Given the description of an element on the screen output the (x, y) to click on. 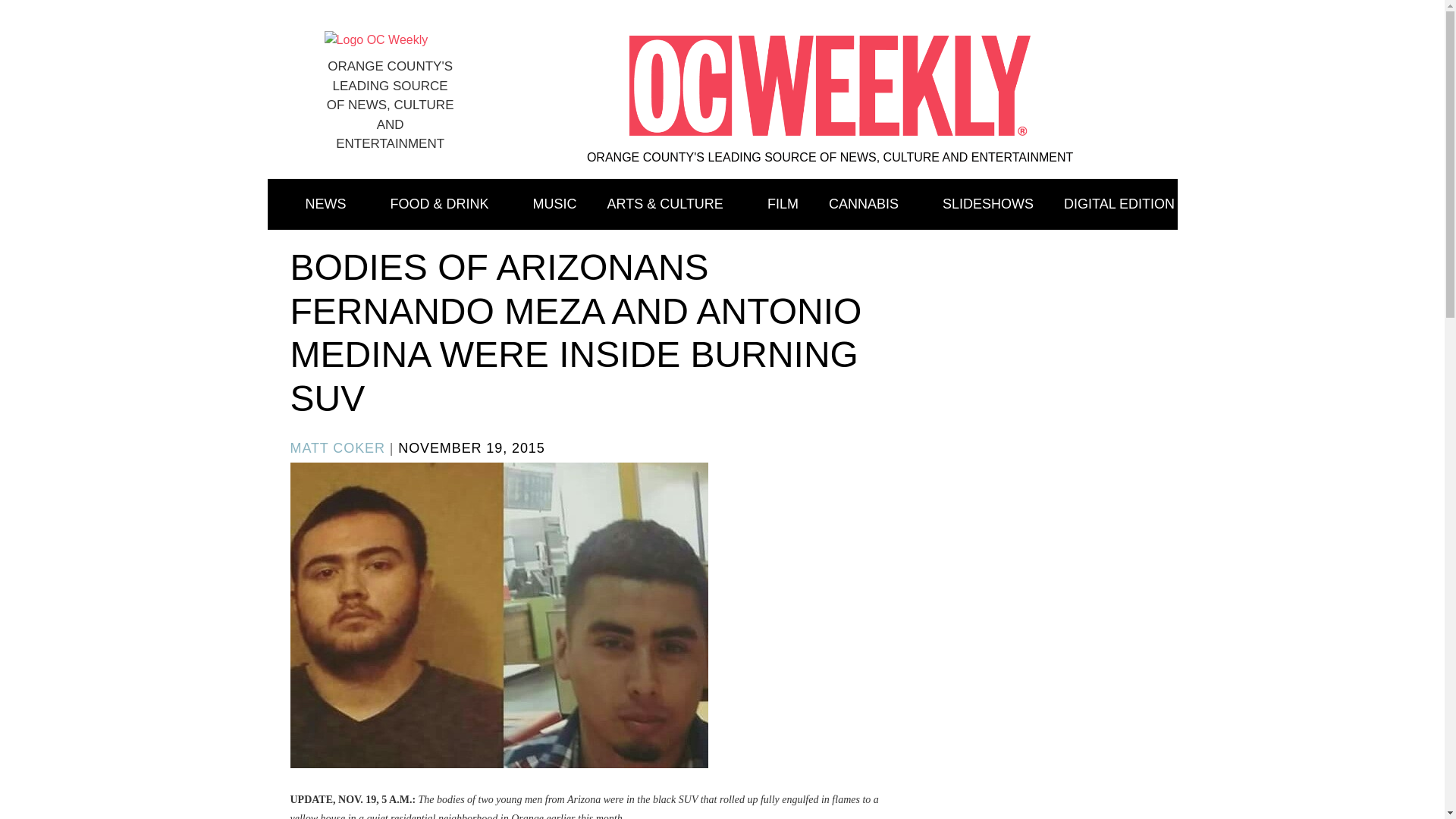
FILM (782, 204)
NEWS (331, 204)
SLIDESHOWS (987, 204)
News (331, 204)
DIGITAL EDITION (1118, 204)
CANNABIS (870, 204)
MUSIC (555, 204)
OC Weekly (376, 39)
